Given the description of an element on the screen output the (x, y) to click on. 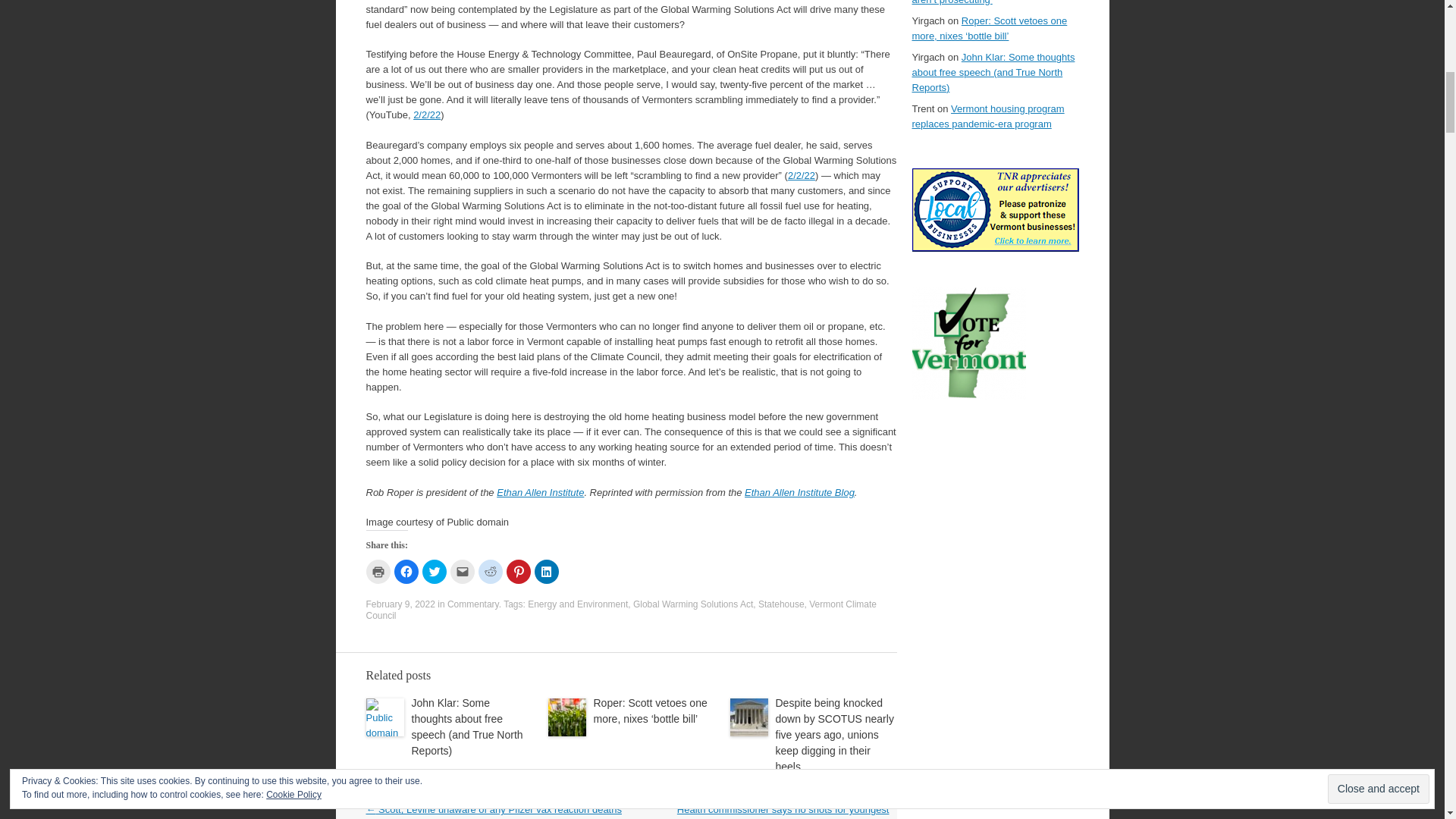
Support our advertisers! (994, 247)
Click to email this to a friend (461, 571)
Click to print (377, 571)
Click to share on Reddit (489, 571)
Click to share on Pinterest (518, 571)
Click to share on LinkedIn (545, 571)
Click to share on Facebook (406, 571)
Click to share on Twitter (433, 571)
